Given the description of an element on the screen output the (x, y) to click on. 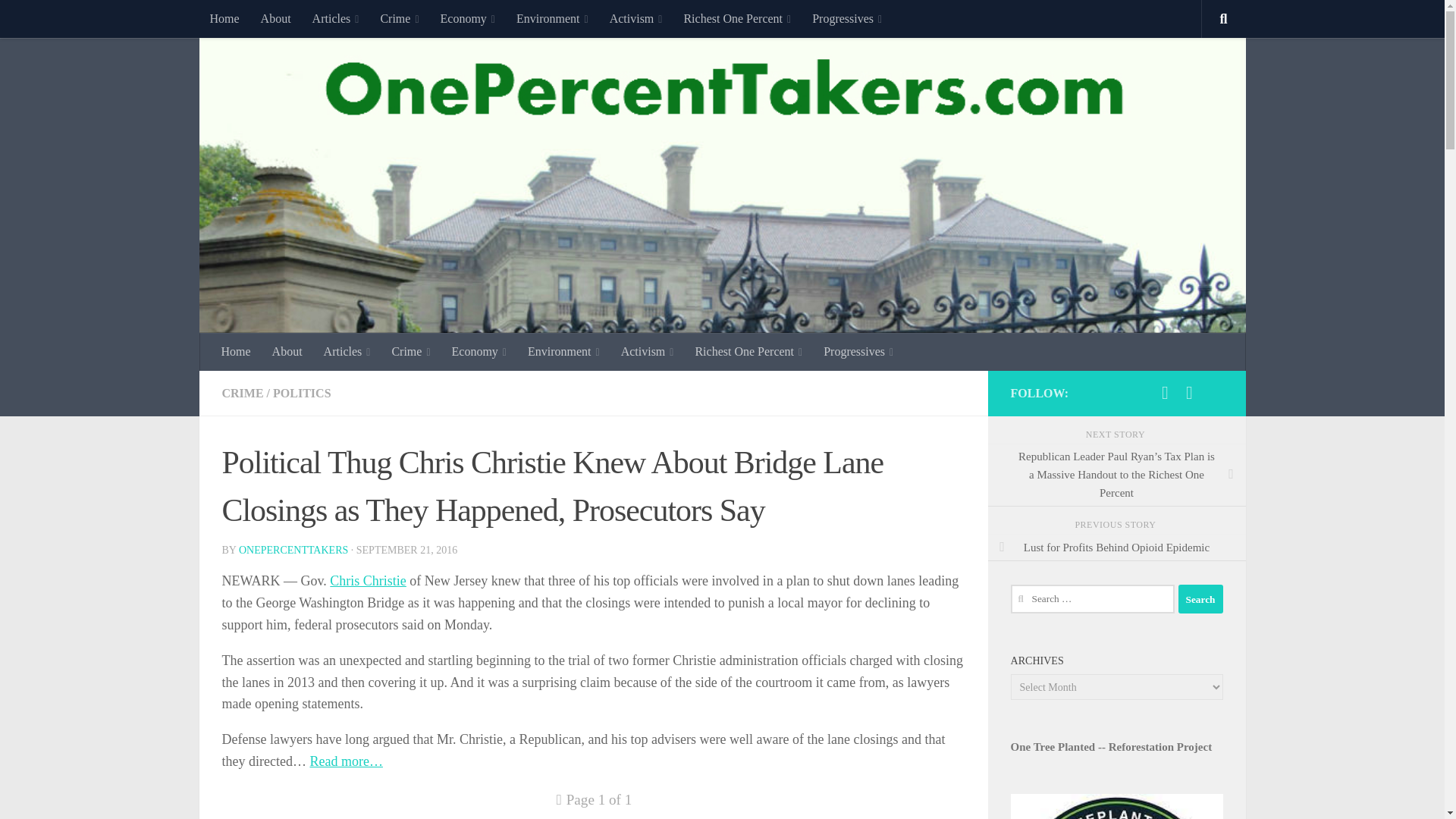
Progressives (847, 18)
Subscribe to This Page (1164, 393)
Articles (335, 18)
Economy (467, 18)
Search (1200, 598)
Twitter (1188, 393)
More articles about Christopher J. Christie Jr. (368, 580)
Activism (635, 18)
Posts by onepercenttakers (292, 550)
Richest One Percent (737, 18)
Home (223, 18)
About (275, 18)
Crime (399, 18)
Search (1200, 598)
Environment (551, 18)
